Given the description of an element on the screen output the (x, y) to click on. 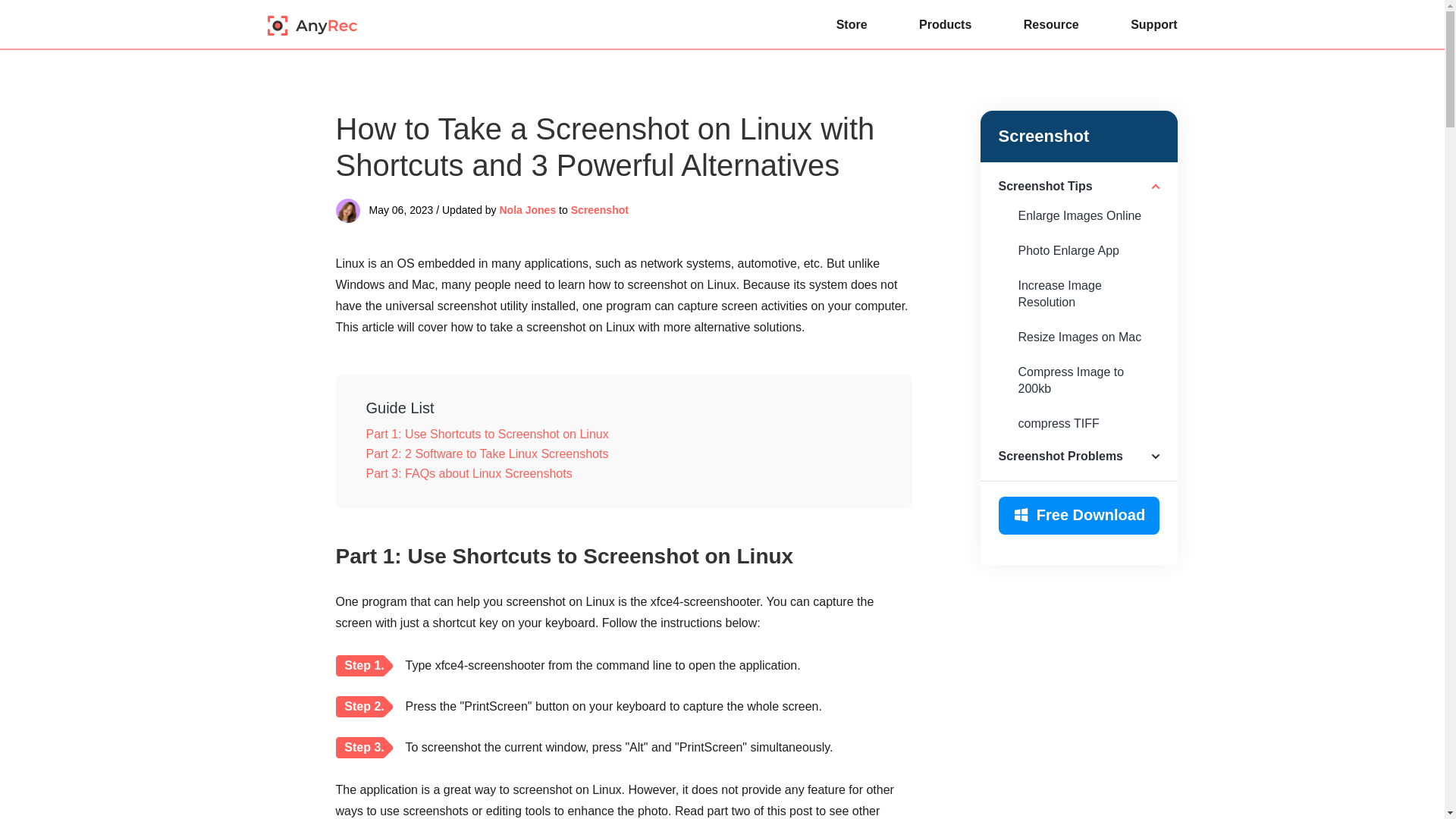
compress TIFF (1077, 423)
Support (1153, 24)
Part 3: FAQs about Linux Screenshots (622, 474)
Enlarge Images Online (1077, 215)
Part 2: 2 Software to Take Linux Screenshots (622, 454)
Resize Images on Mac (1077, 337)
Part 1: Use Shortcuts to Screenshot on Linux (622, 434)
Resource (1050, 24)
Photo Enlarge App (1077, 250)
Increase Image Resolution (1077, 293)
